Given the description of an element on the screen output the (x, y) to click on. 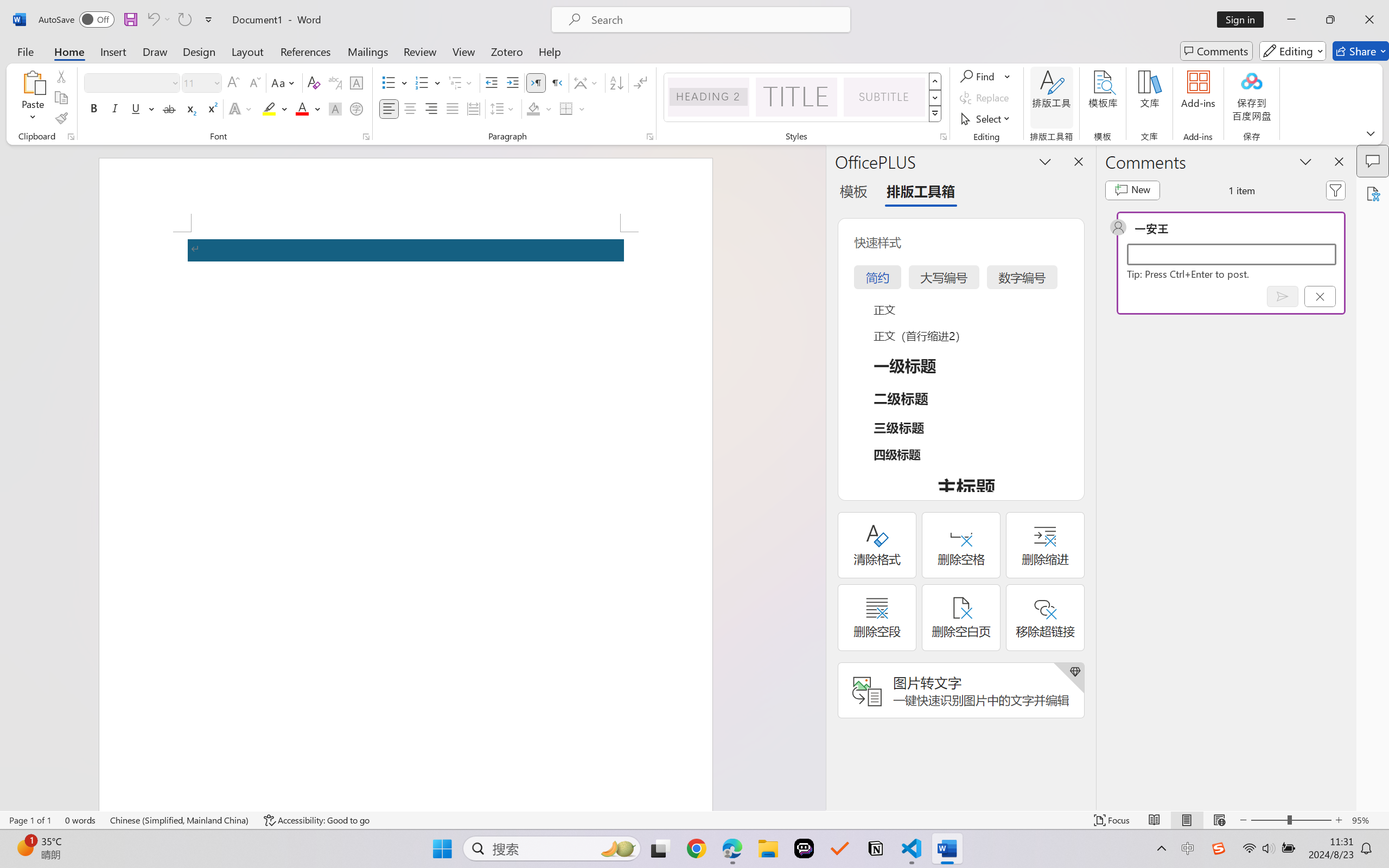
Post comment (Ctrl + Enter) (1282, 296)
